Given the description of an element on the screen output the (x, y) to click on. 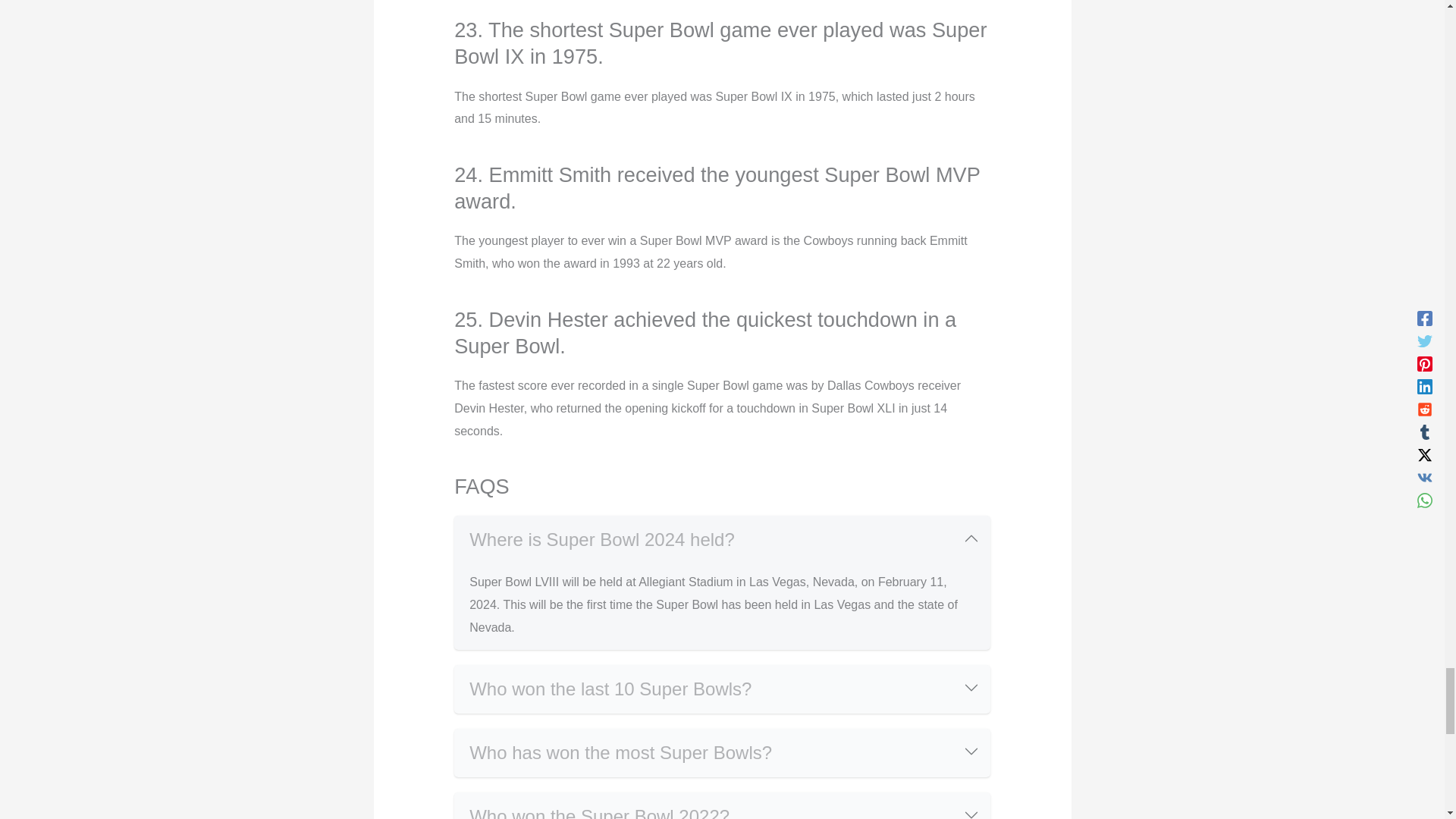
on (459, 520)
on (459, 797)
on (459, 733)
on (459, 669)
